Given the description of an element on the screen output the (x, y) to click on. 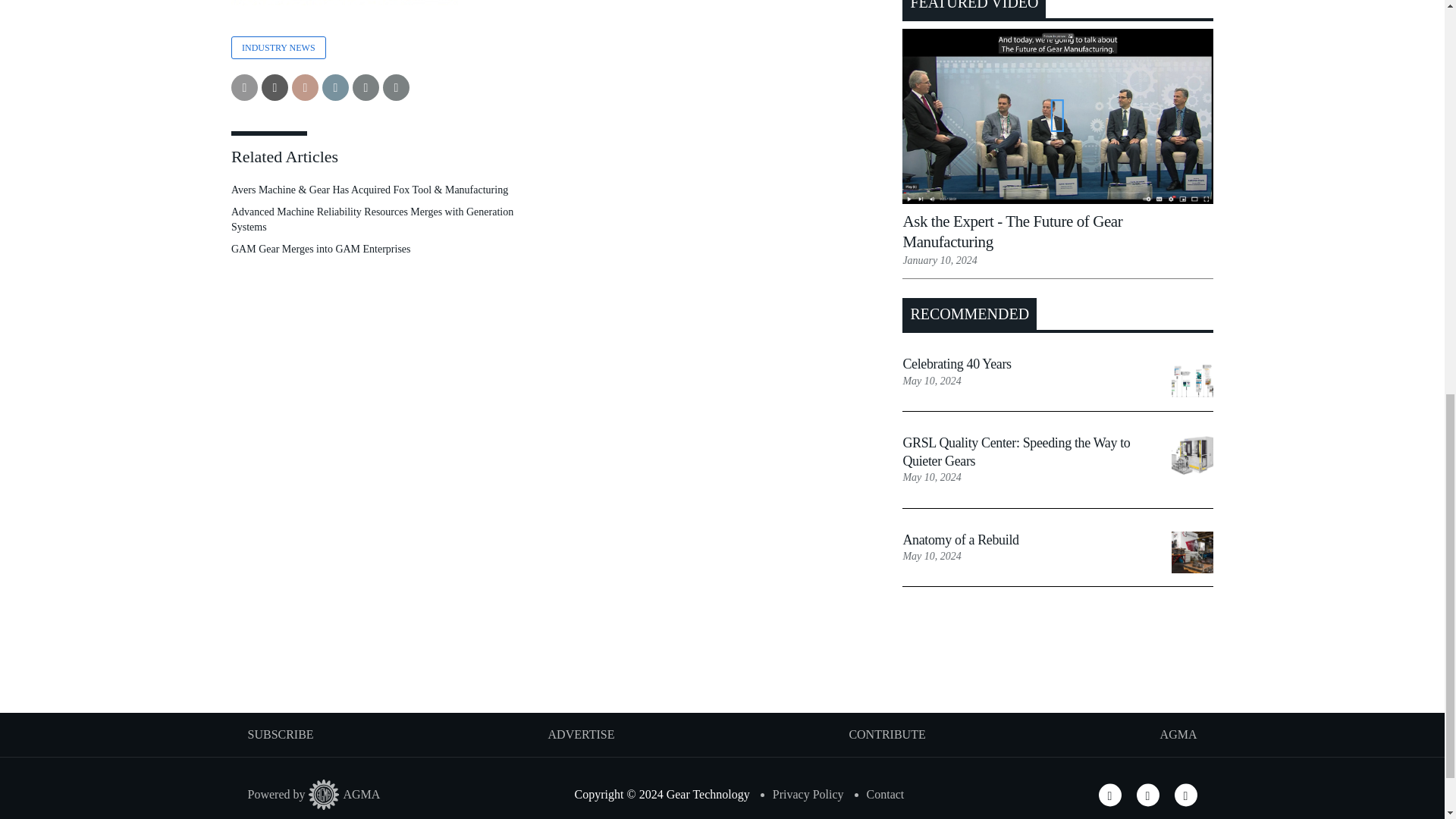
3rd party ad content (721, 663)
